Given the description of an element on the screen output the (x, y) to click on. 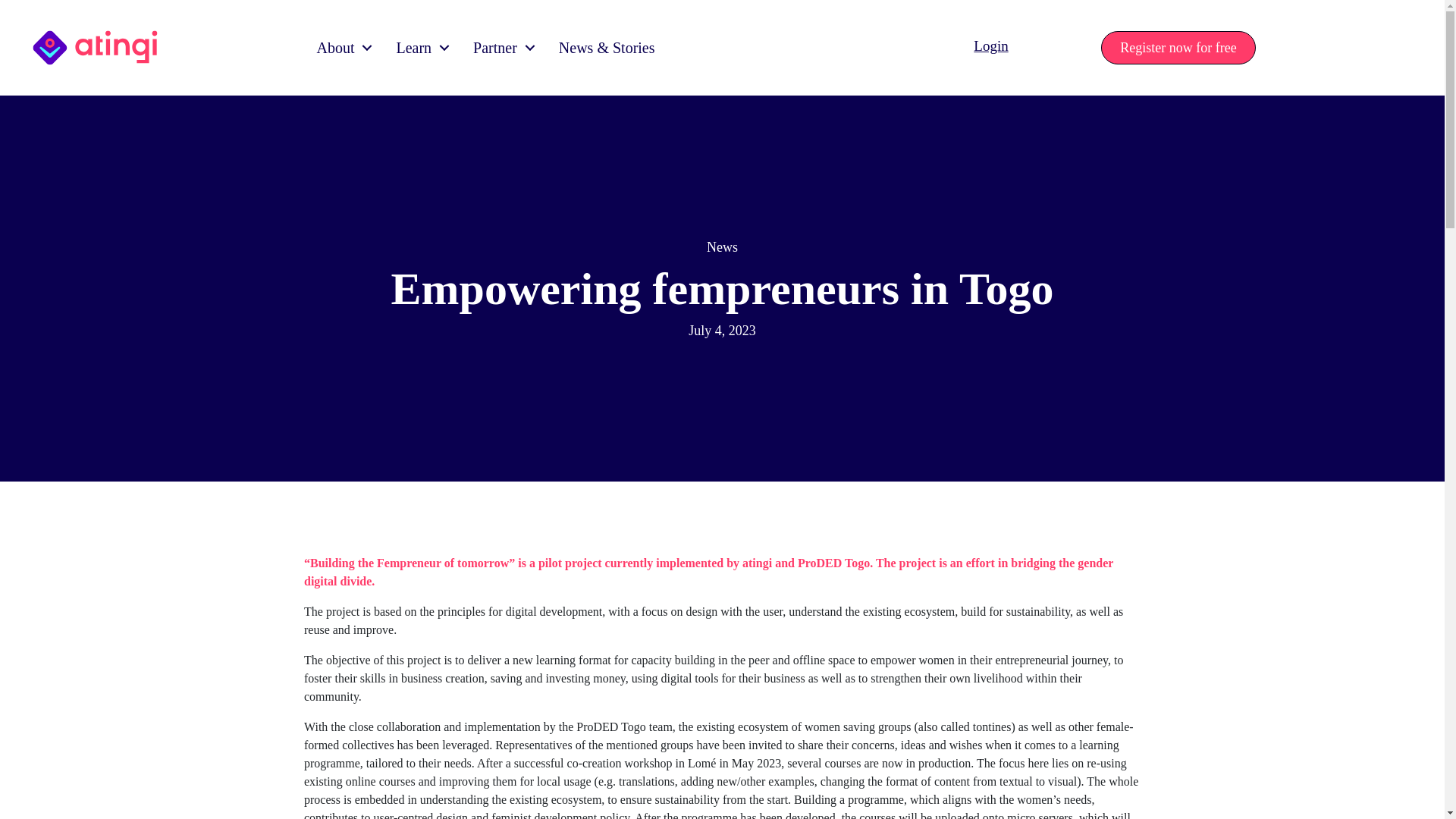
Login (990, 45)
atingi-full-colour-logo (95, 47)
Partner (500, 47)
About (340, 47)
Register now for free (1177, 47)
Learn (418, 47)
